Given the description of an element on the screen output the (x, y) to click on. 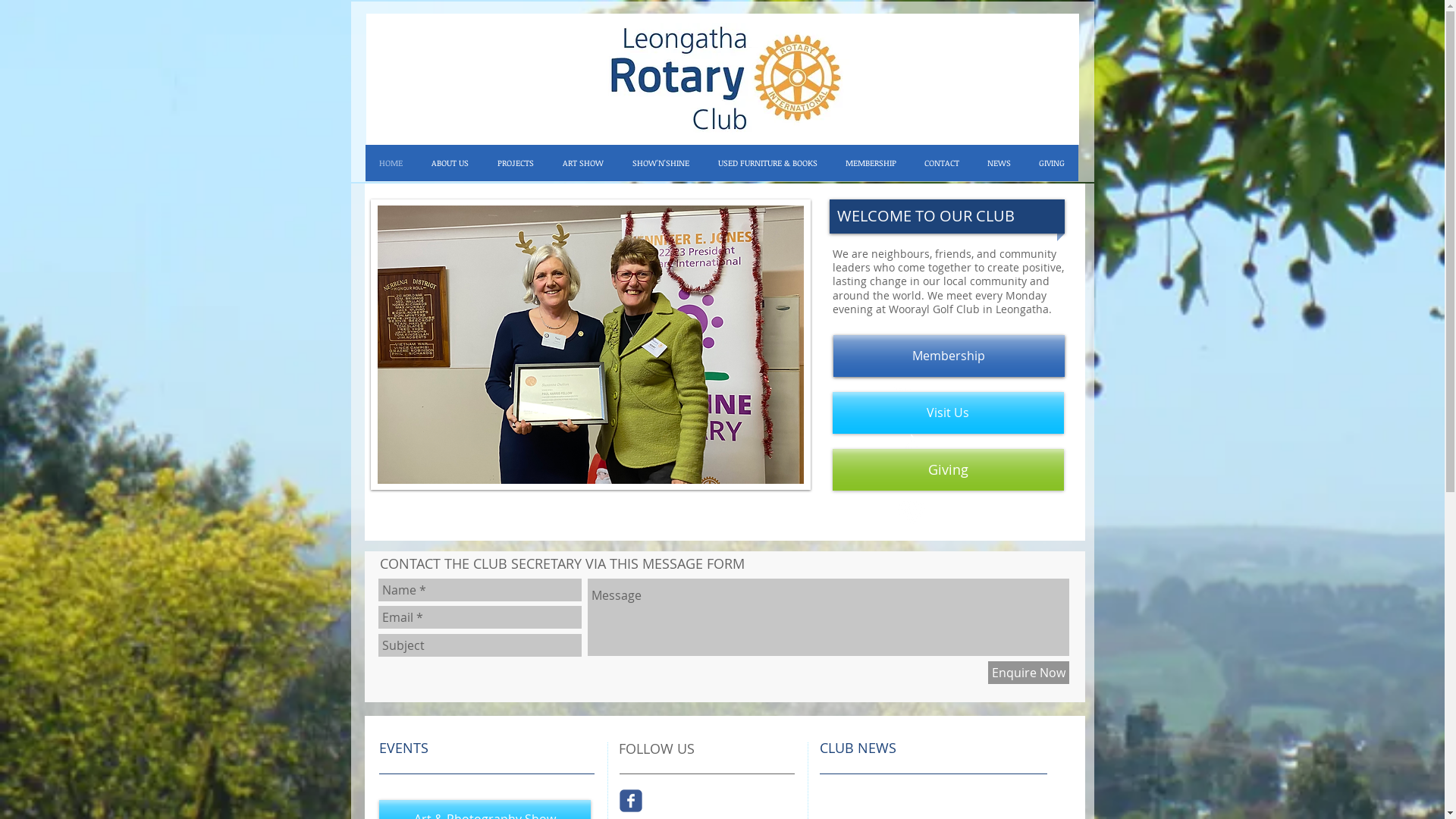
NEWS Element type: text (997, 162)
Giving Element type: text (947, 469)
GIVING Element type: text (1050, 162)
ABOUT US Element type: text (450, 162)
USED FURNITURE & BOOKS Element type: text (767, 162)
Membership Element type: text (947, 355)
Logo_Creator__print_edited.jpg Element type: hover (723, 78)
HOME Element type: text (391, 162)
PROJECTS Element type: text (514, 162)
Enquire Now Element type: text (1027, 672)
CONTACT Element type: text (941, 162)
MEMBERSHIP Element type: text (870, 162)
SHOW'N'SHINE Element type: text (659, 162)
ART SHOW Element type: text (582, 162)
Visit Us Element type: text (947, 412)
